Given the description of an element on the screen output the (x, y) to click on. 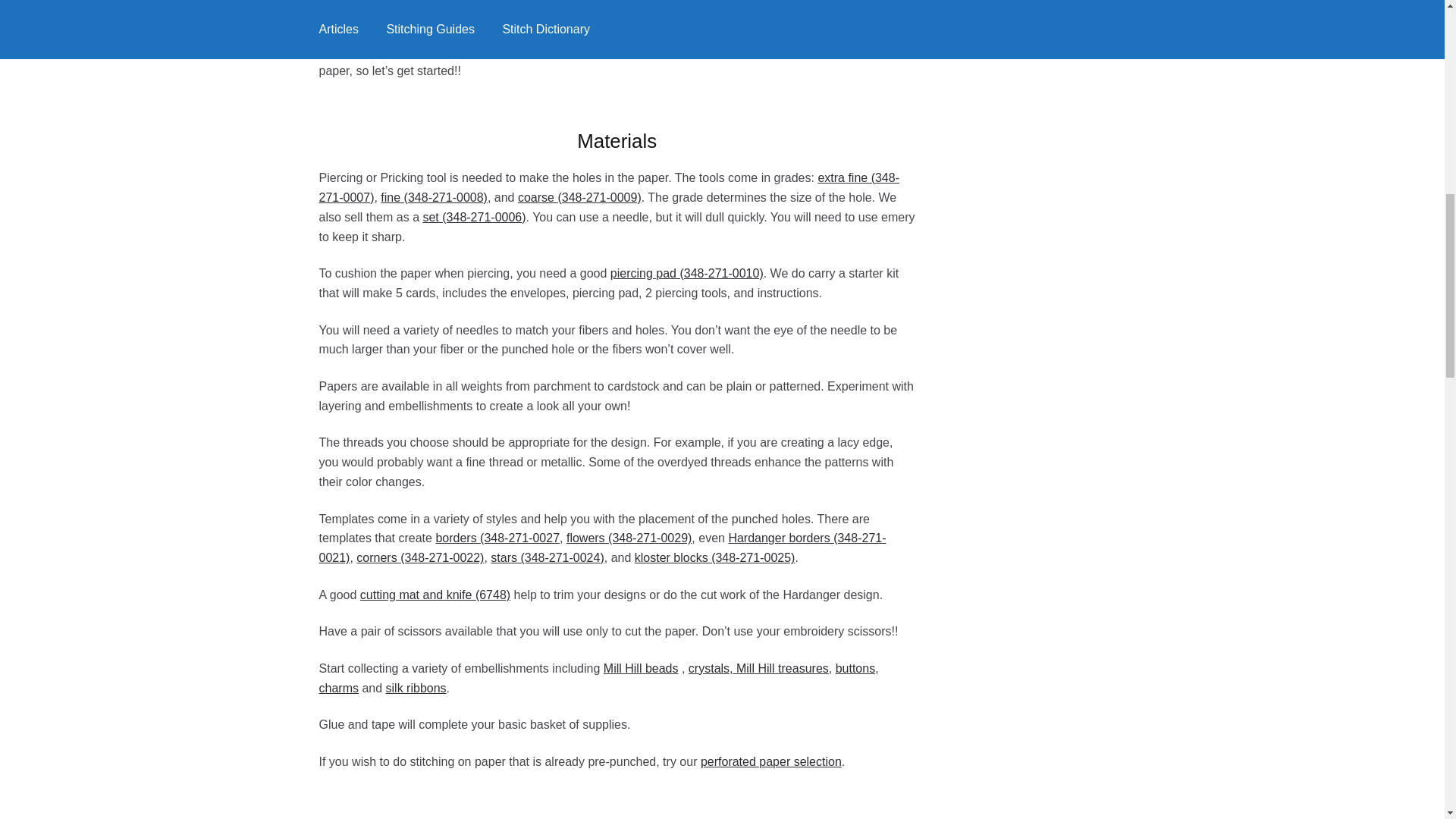
crystals, Mill Hill treasures (758, 667)
silk ribbons (415, 687)
Mill Hill beads (641, 667)
charms (338, 687)
perforated paper selection (770, 761)
buttons (855, 667)
